Given the description of an element on the screen output the (x, y) to click on. 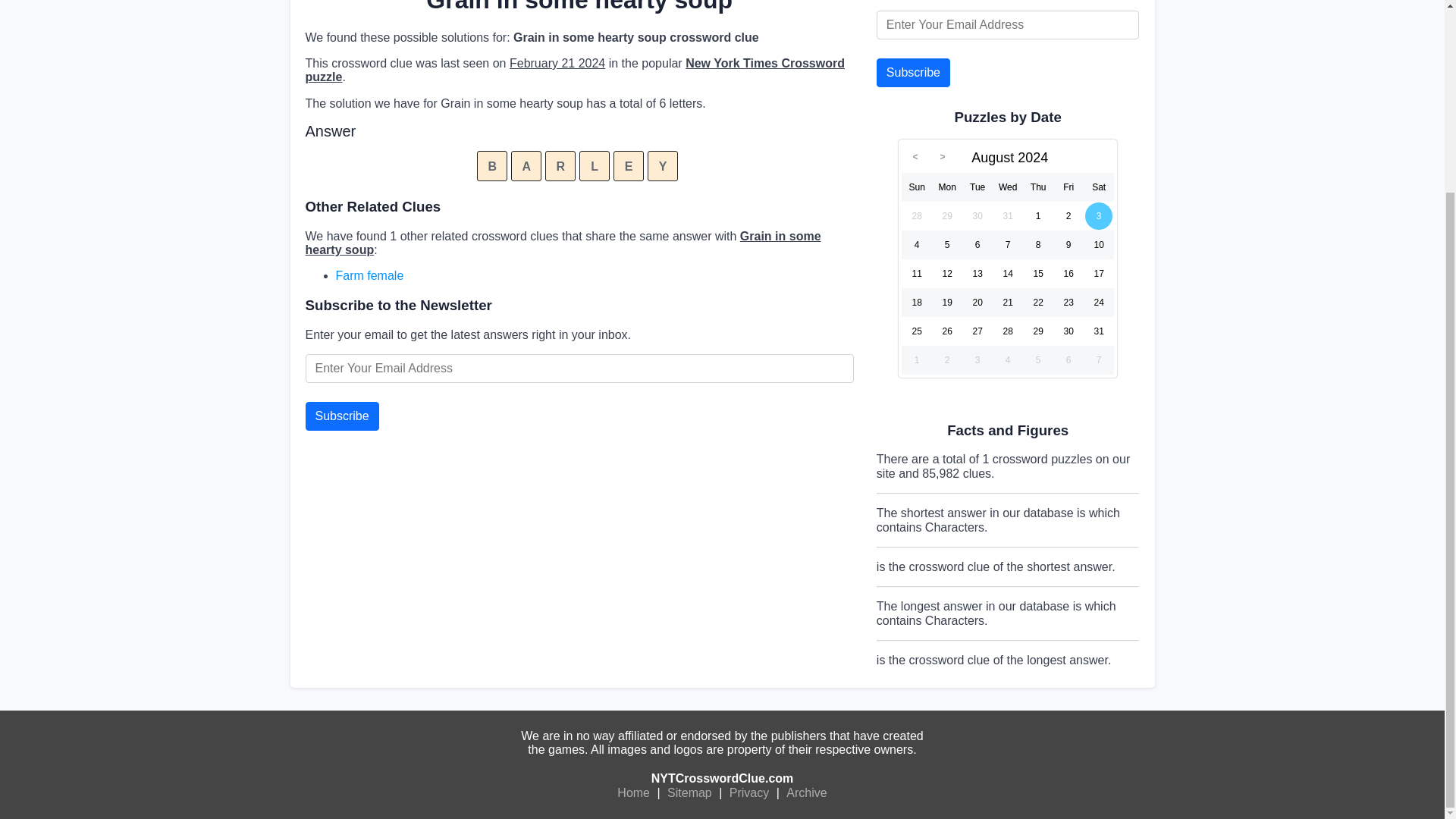
Farm female (368, 275)
Sitemap (689, 792)
Subscribe (341, 416)
Archive (806, 792)
Subscribe (913, 72)
NYTCrosswordClue.com (721, 778)
Subscribe (913, 72)
Home (632, 792)
Subscribe (341, 416)
Privacy (749, 792)
